Given the description of an element on the screen output the (x, y) to click on. 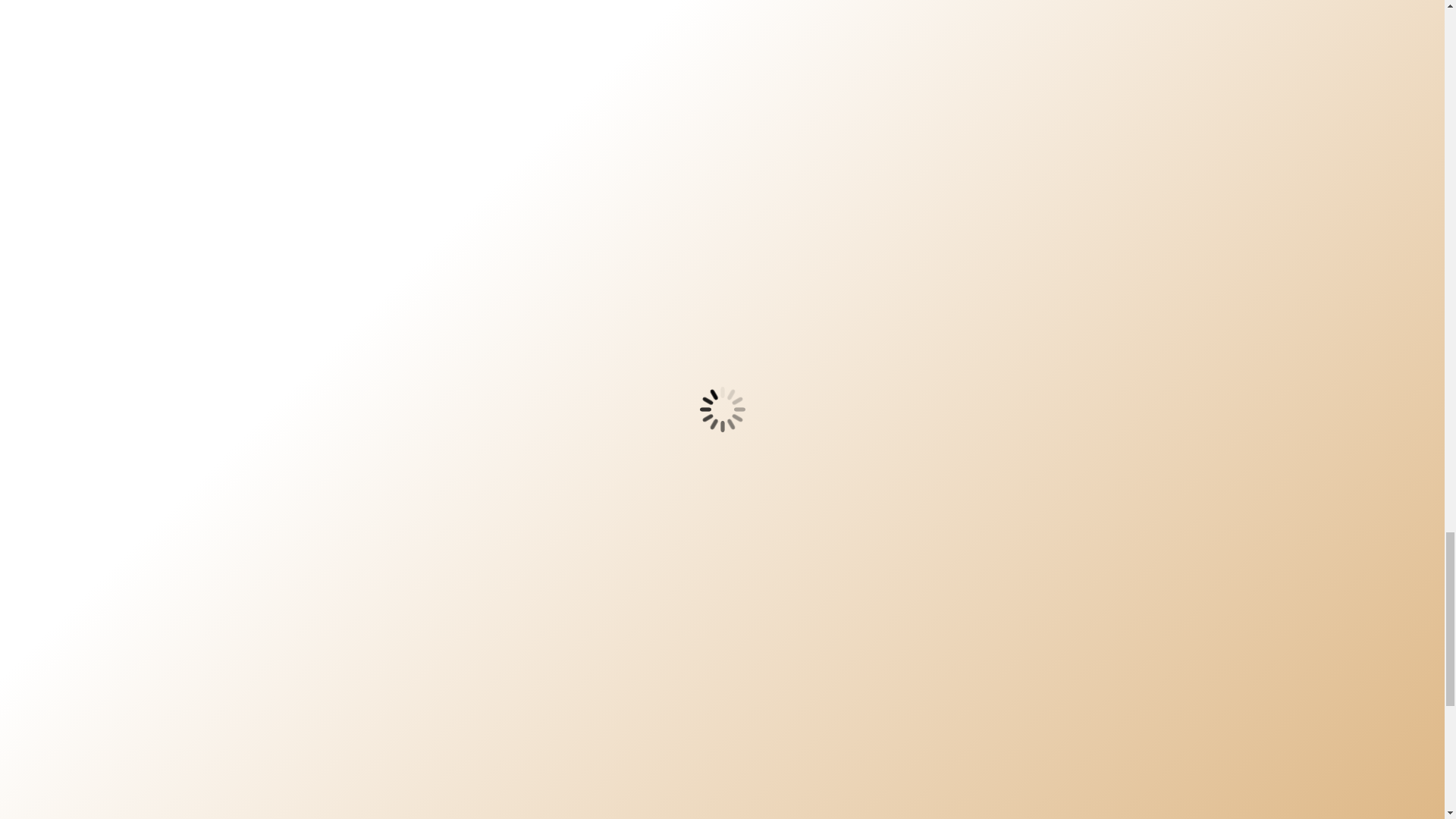
Facebook (570, 20)
Twitter (611, 20)
